Given the description of an element on the screen output the (x, y) to click on. 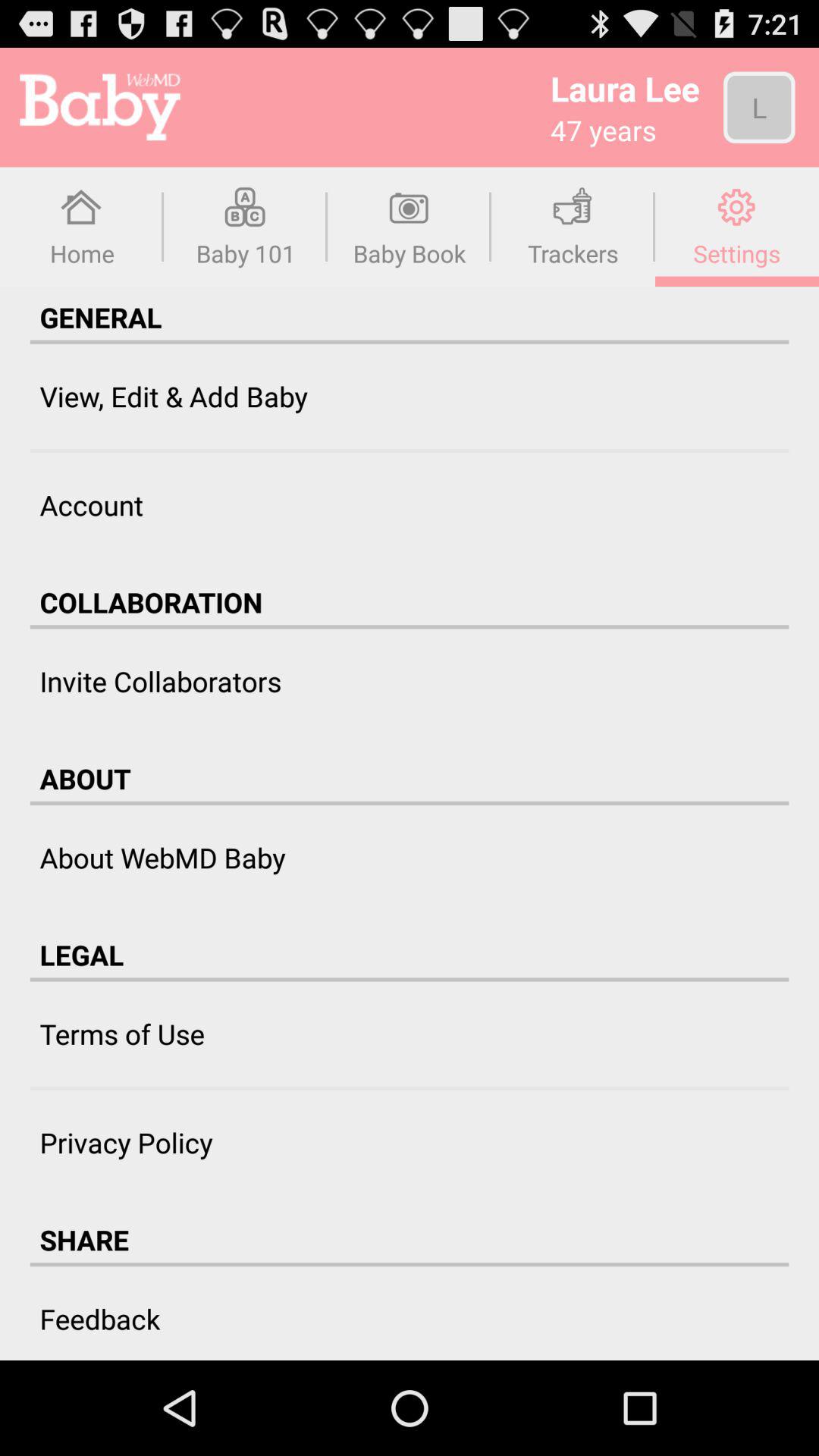
flip to privacy policy item (125, 1142)
